Given the description of an element on the screen output the (x, y) to click on. 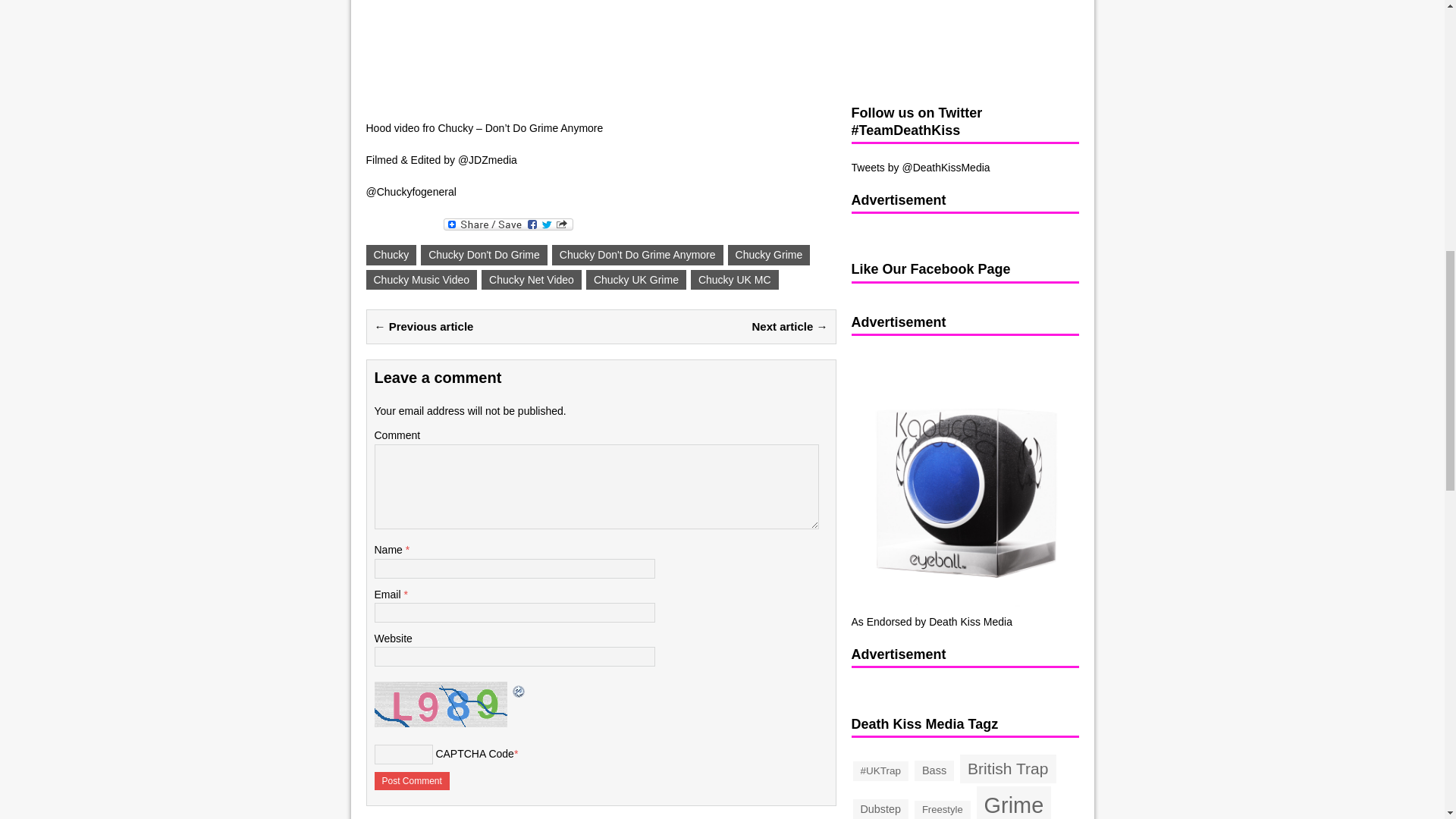
CAPTCHA Image (442, 704)
Refresh Image (519, 689)
Post Comment (411, 781)
Advertisement (945, 42)
